Given the description of an element on the screen output the (x, y) to click on. 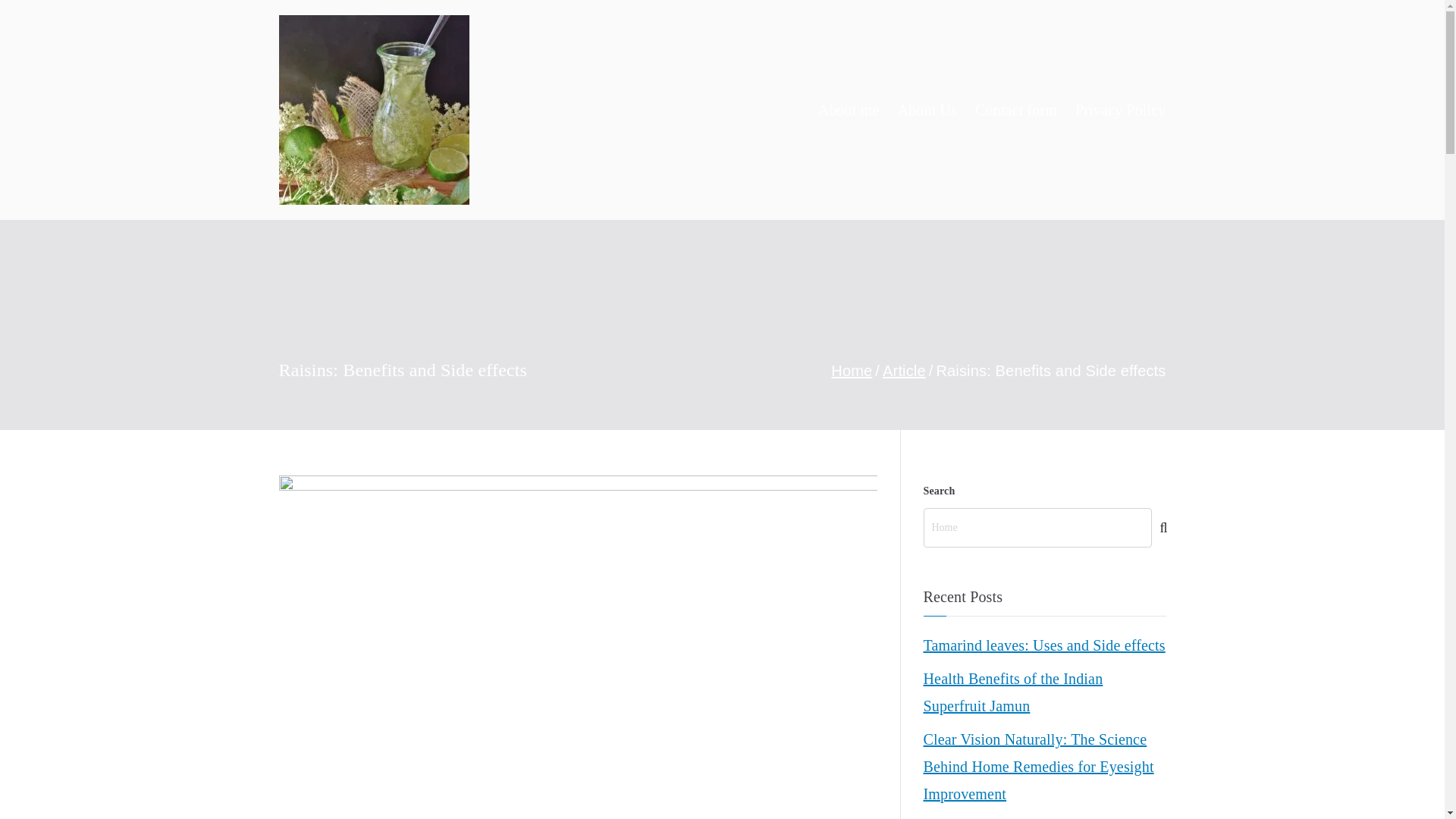
About Us (928, 109)
Article (904, 370)
Home (851, 370)
Contact form (1016, 109)
Tamarind leaves: Uses and Side effects (1044, 645)
About me (848, 109)
Privacy Policy (1120, 109)
Health Benefits of the Indian Superfruit Jamun (1044, 692)
